Given the description of an element on the screen output the (x, y) to click on. 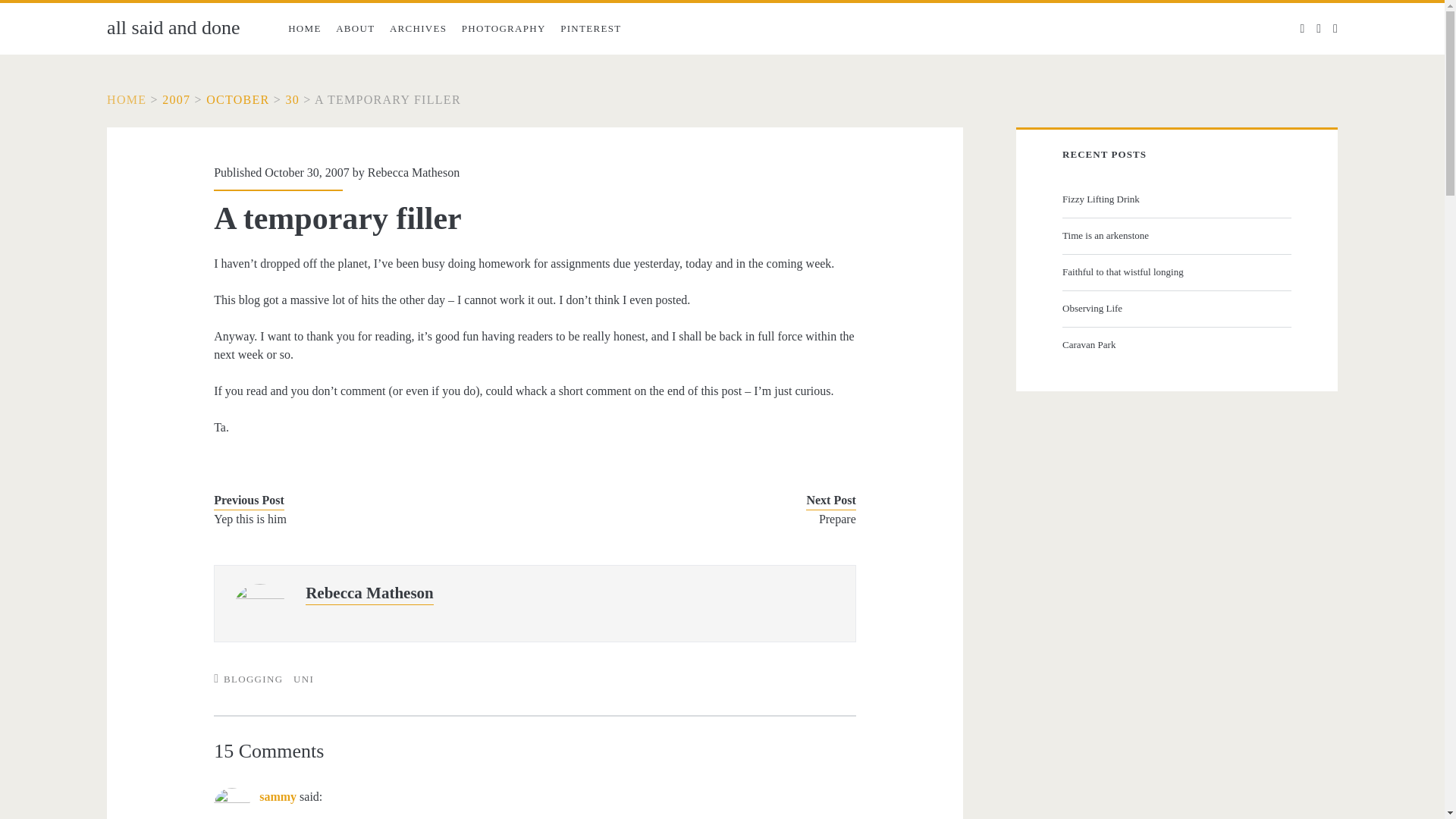
HOME (126, 99)
HOME (305, 28)
PINTEREST (590, 28)
UNI (304, 678)
all said and done (173, 27)
BLOGGING (253, 678)
View all posts in Blogging (253, 678)
Rebecca Matheson (369, 592)
all said and done (126, 99)
Rebecca Matheson (414, 172)
